Given the description of an element on the screen output the (x, y) to click on. 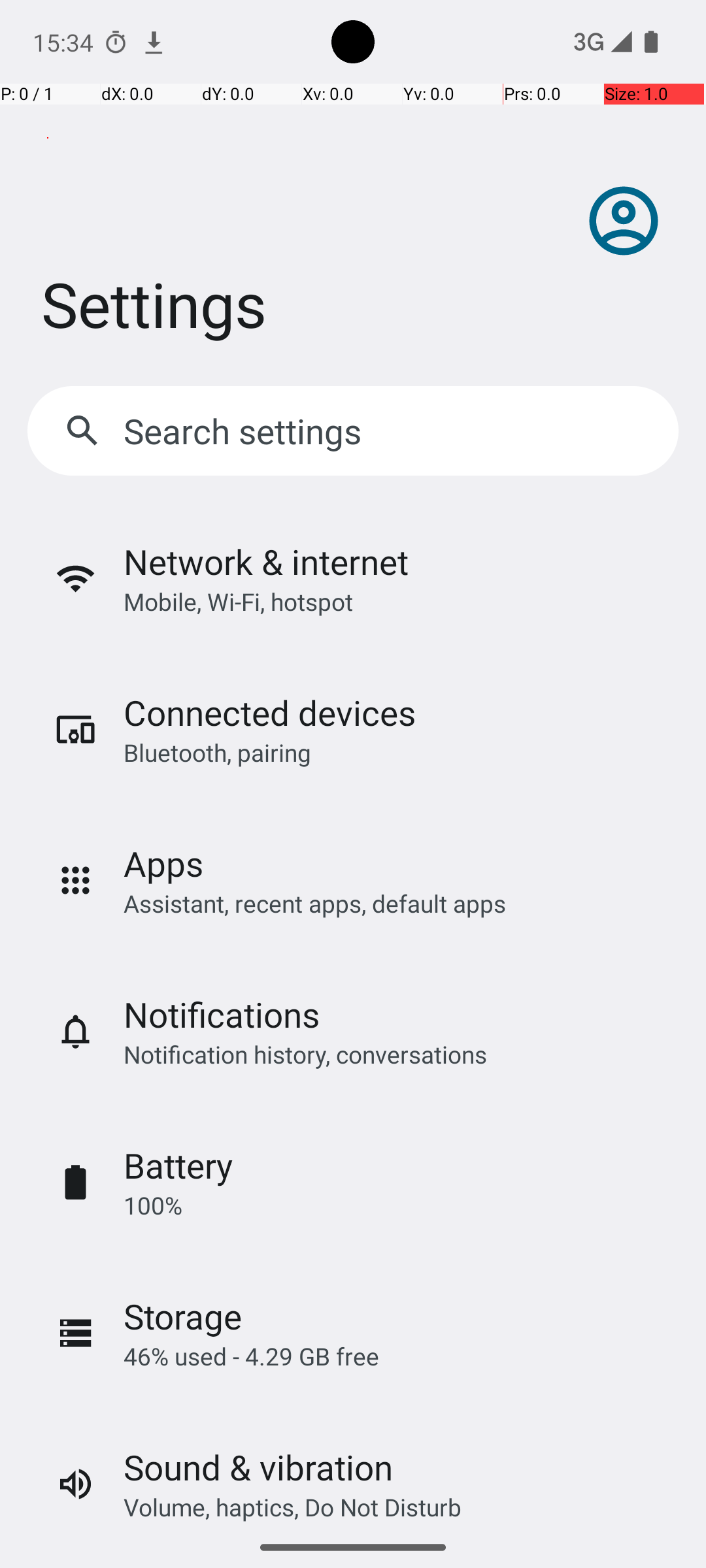
46% used - 4.29 GB free Element type: android.widget.TextView (251, 1355)
